Given the description of an element on the screen output the (x, y) to click on. 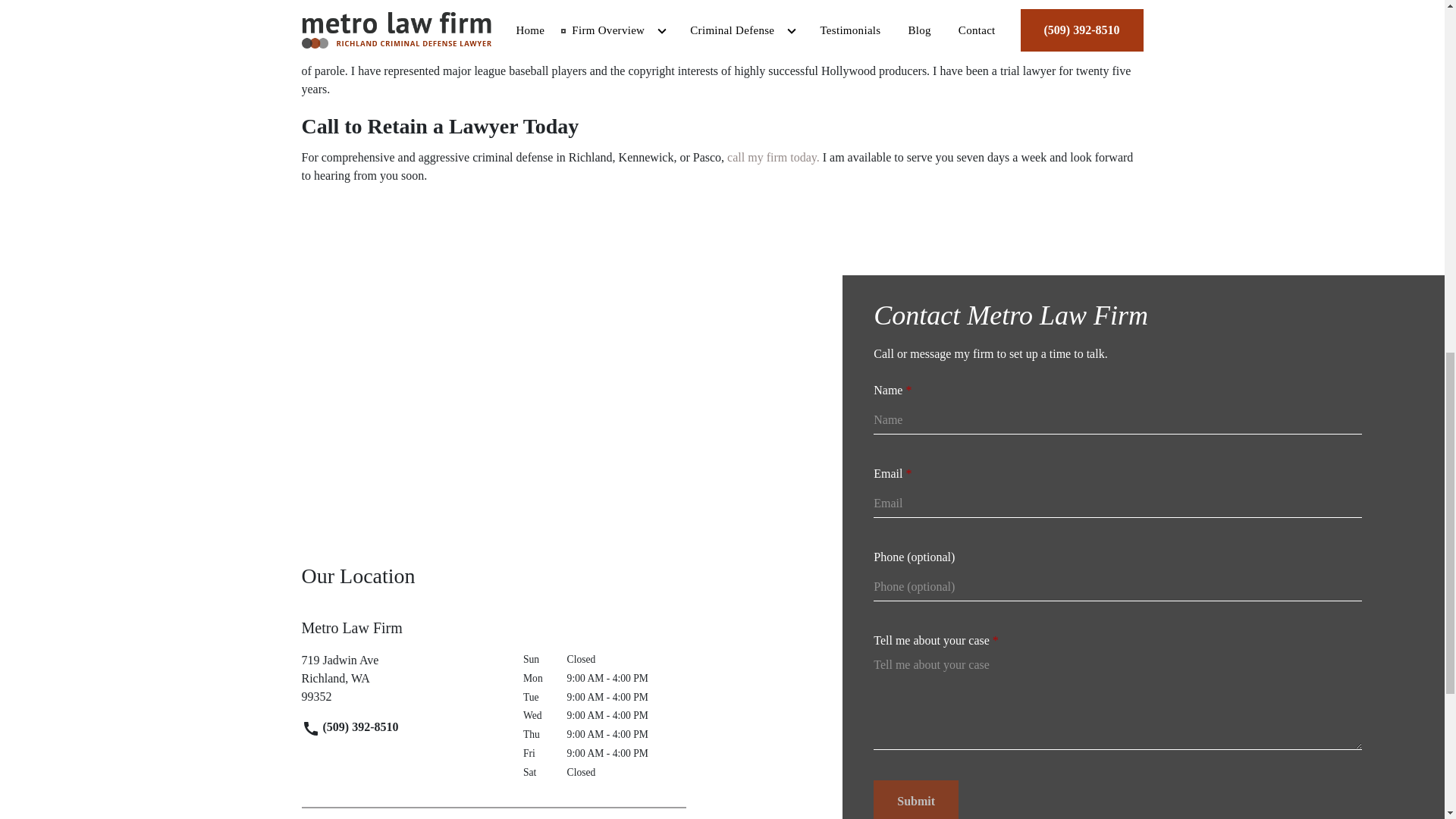
call my firm today. (400, 678)
Submit (772, 156)
